Given the description of an element on the screen output the (x, y) to click on. 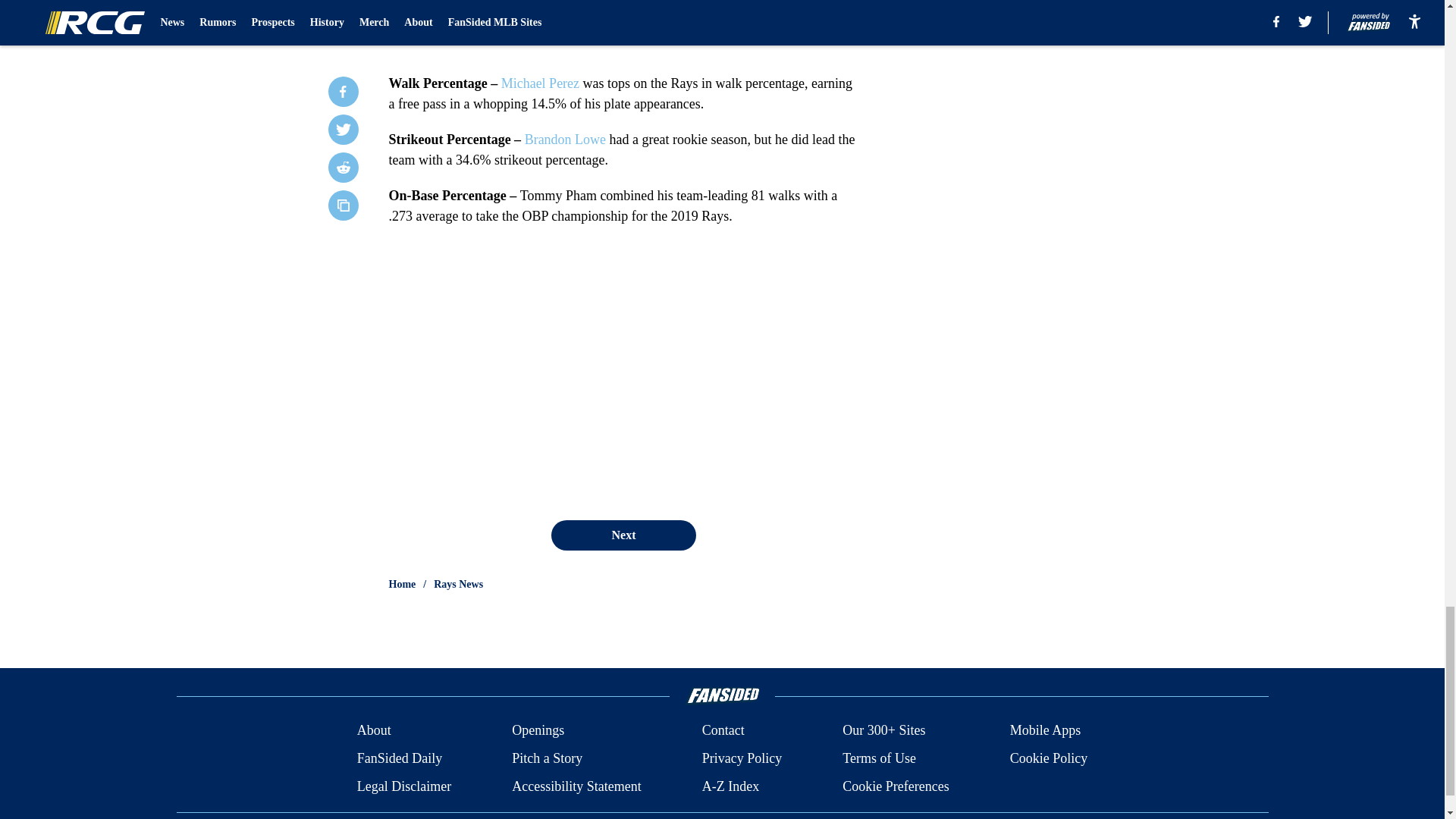
Brandon Lowe (564, 139)
Pitch a Story (547, 758)
Rays News (458, 584)
Next (622, 535)
Home (401, 584)
Openings (538, 730)
FanSided Daily (399, 758)
Contact (722, 730)
Michael Perez (539, 83)
Mobile Apps (1045, 730)
